Given the description of an element on the screen output the (x, y) to click on. 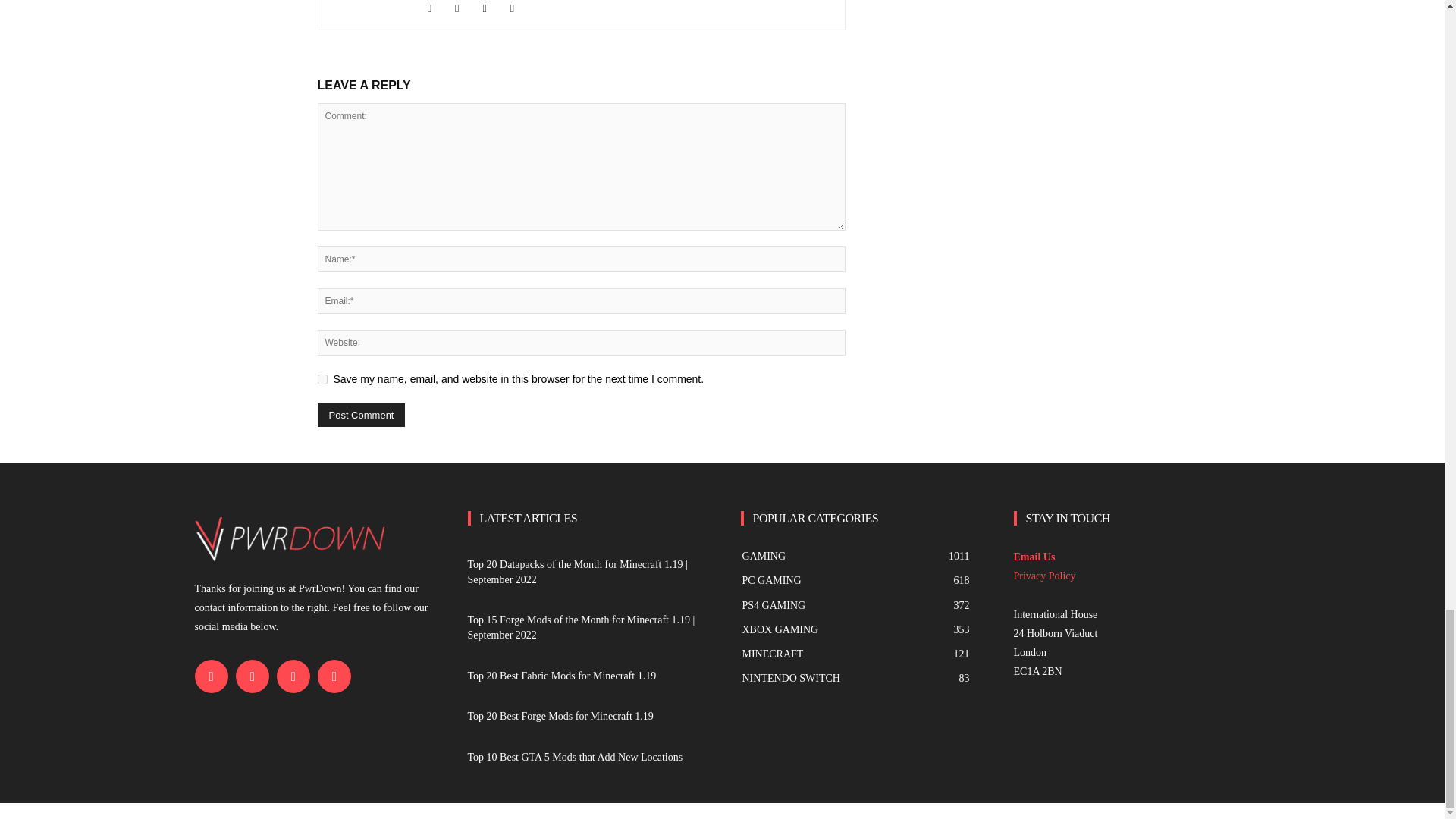
Post Comment (360, 414)
Facebook (436, 9)
yes (321, 379)
